Given the description of an element on the screen output the (x, y) to click on. 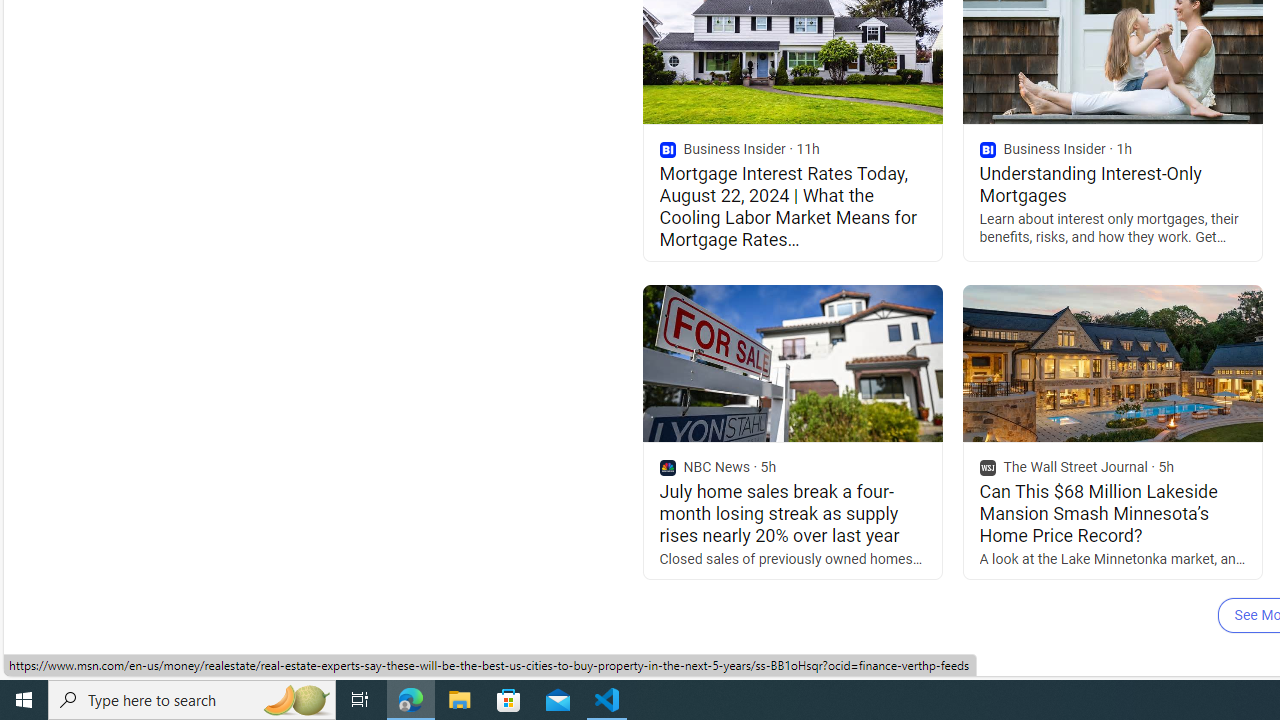
Class: index-module__icon--92f11c (987, 467)
Class: index-module__image--a7f677 (1112, 363)
